Given the description of an element on the screen output the (x, y) to click on. 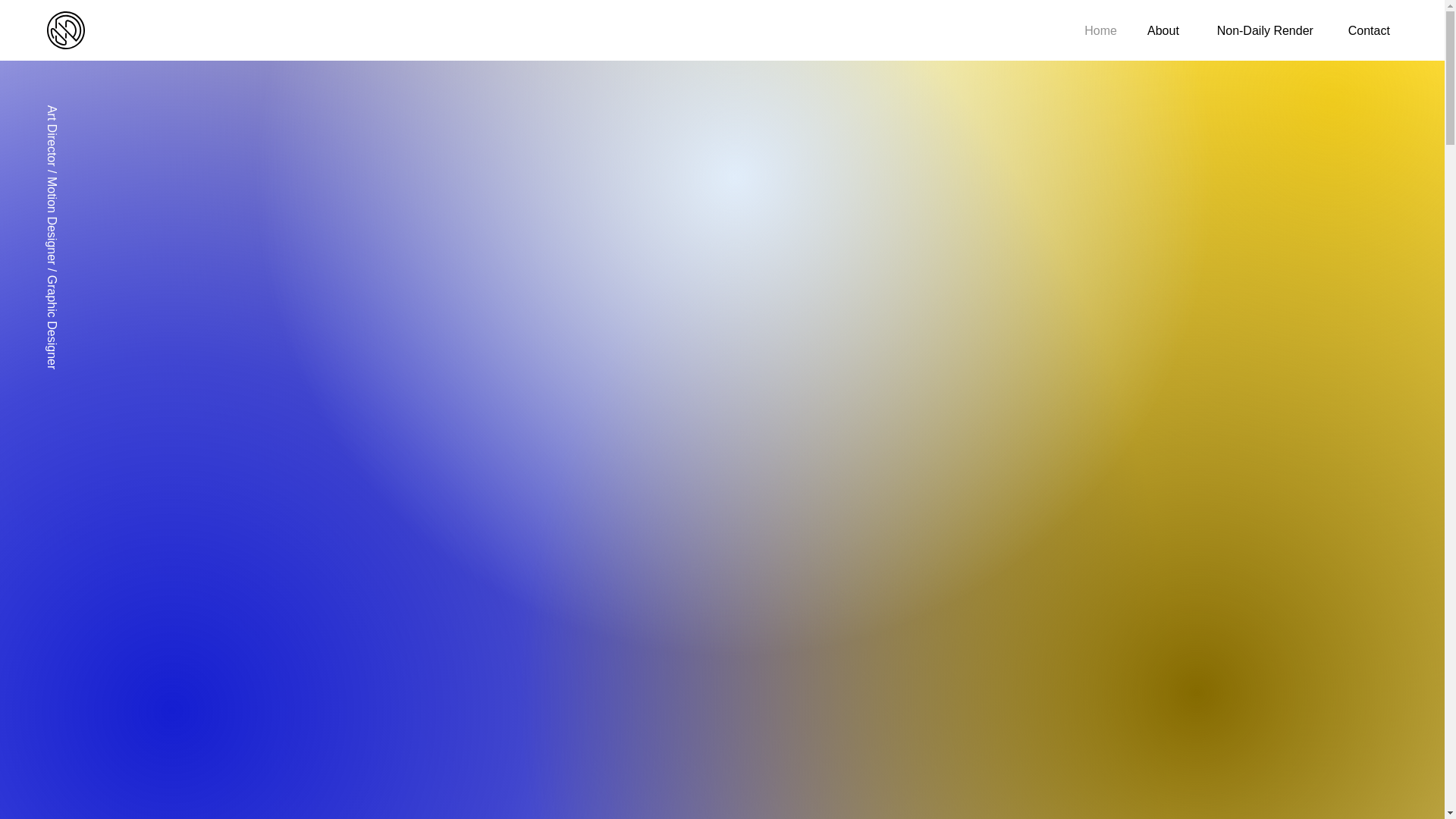
Contact (1362, 30)
Home (1098, 30)
Non-Daily Render (1257, 30)
About (1159, 30)
